Given the description of an element on the screen output the (x, y) to click on. 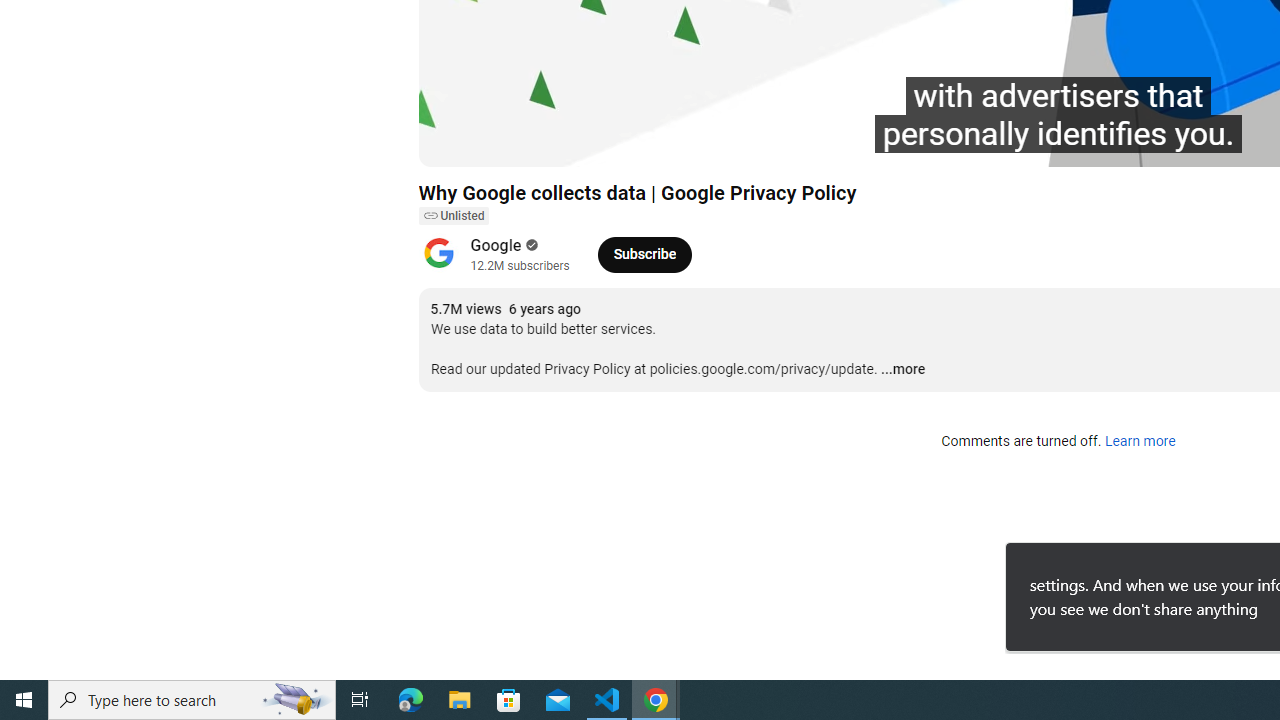
Unlisted (453, 216)
Google (496, 245)
Pause (k) (453, 142)
Subscribe to Google. (644, 254)
Mute (m) (548, 142)
Next (SHIFT+n) (500, 142)
Verified (530, 245)
...more (902, 370)
Learn more (1139, 442)
